Given the description of an element on the screen output the (x, y) to click on. 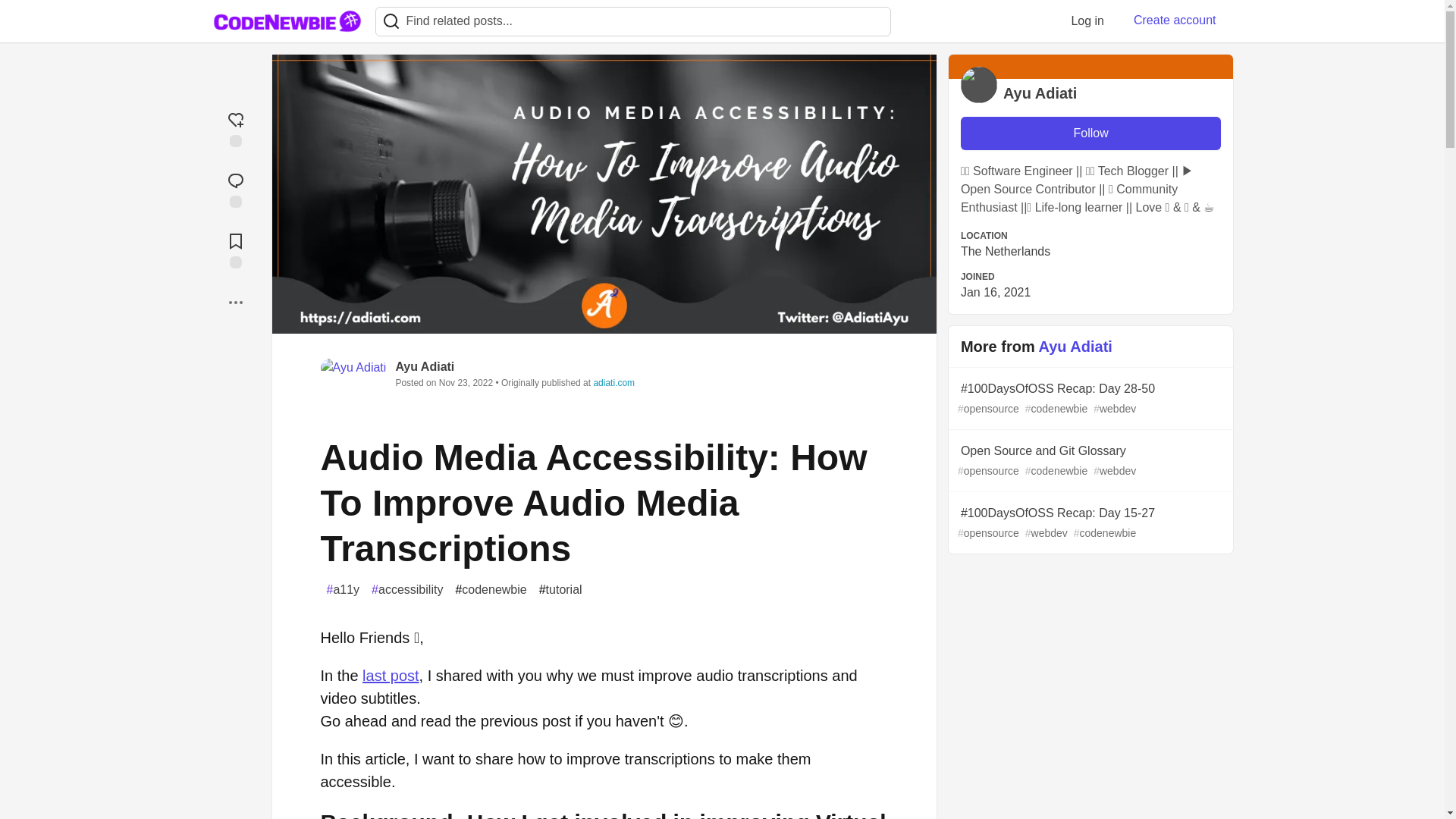
Search (390, 21)
More... (234, 302)
Ayu Adiati (424, 366)
adiati.com (613, 382)
Search (390, 21)
last post (390, 675)
Log in (1087, 20)
Create account (1174, 20)
More... (234, 302)
